Given the description of an element on the screen output the (x, y) to click on. 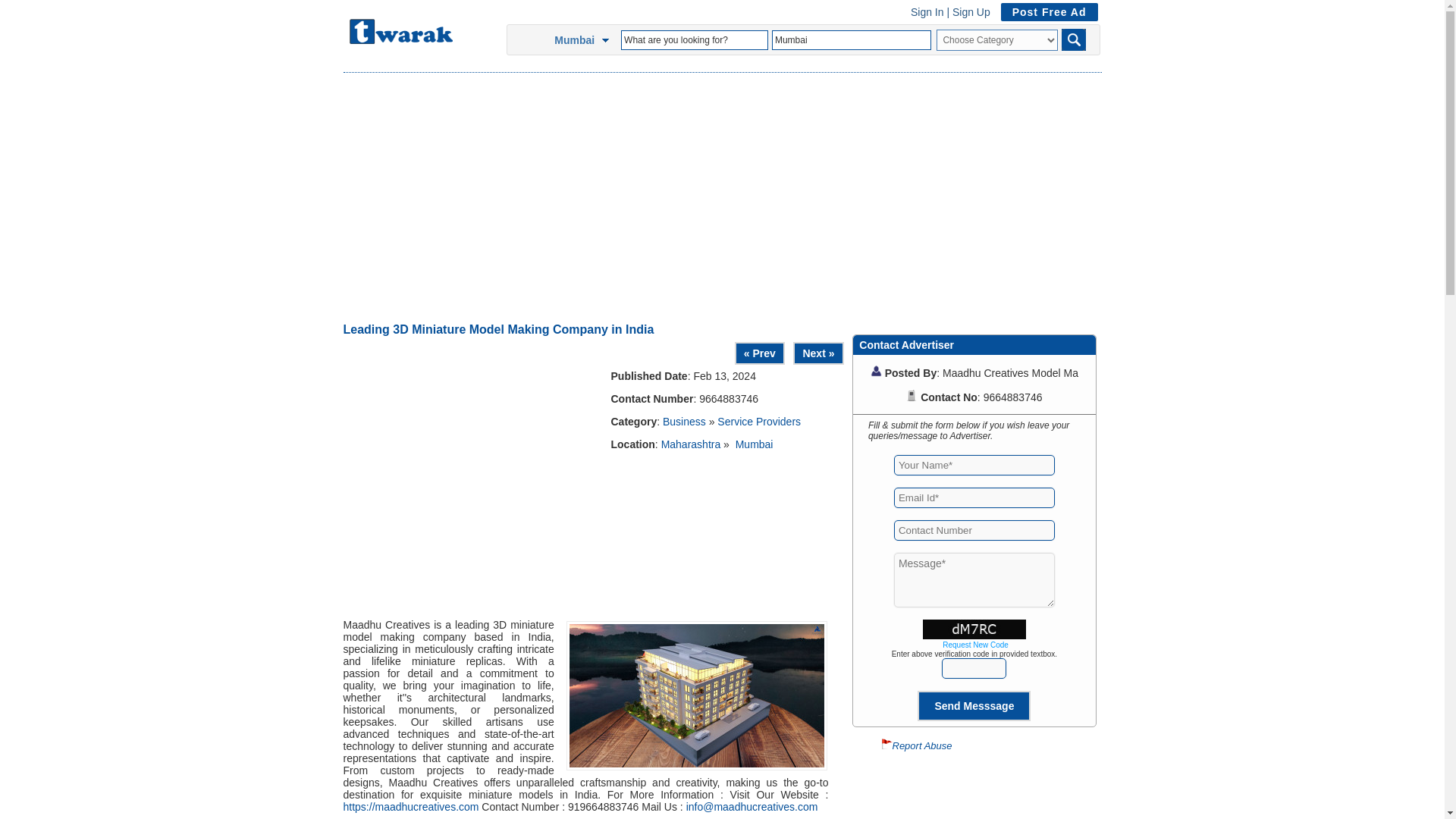
Business (684, 421)
Login  (927, 11)
Change City (607, 40)
Service Providers (758, 421)
Sign Up (971, 11)
Mumbai (851, 39)
Maharashtra (690, 444)
Twarak Classifieds (400, 39)
Post Free Ad (1044, 11)
Sign In (927, 11)
Send Messsage (973, 705)
Registration (971, 11)
Mumbai (754, 444)
Mumbai (851, 39)
What are you looking for? (694, 39)
